Given the description of an element on the screen output the (x, y) to click on. 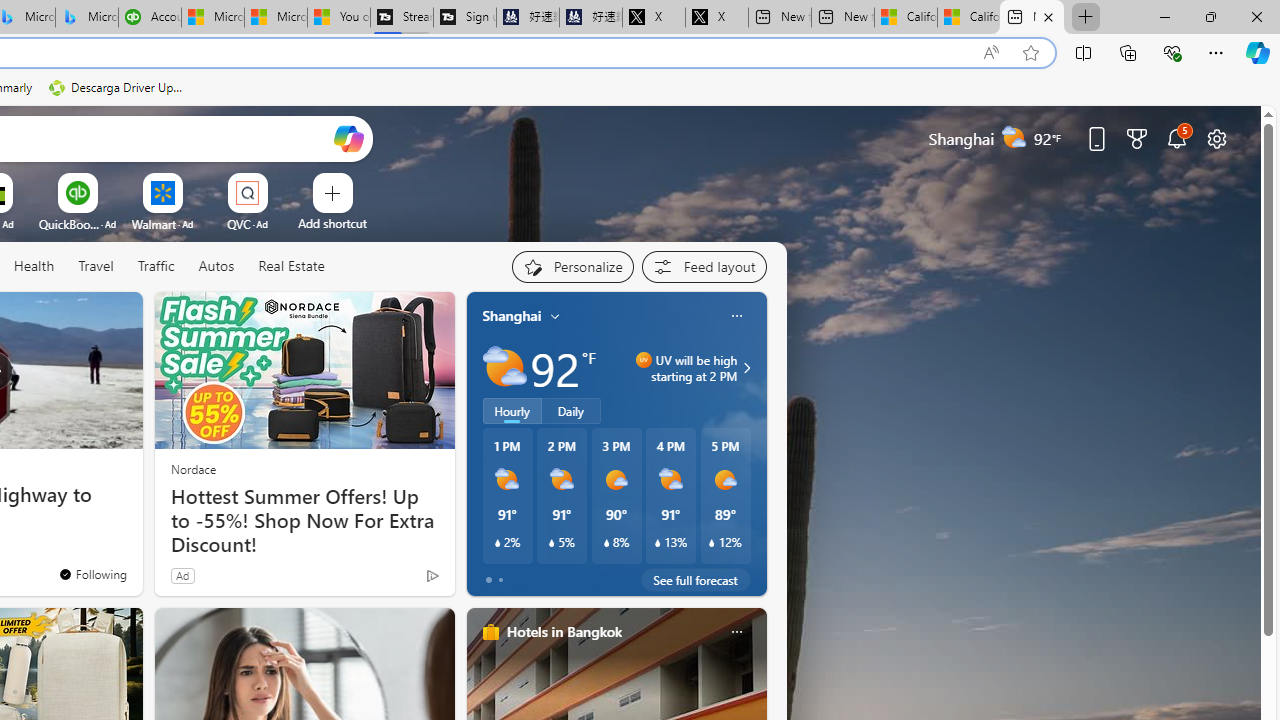
hotels-header-icon (490, 632)
Daily (571, 411)
Accounting Software for Accountants, CPAs and Bookkeepers (149, 17)
Add a site (332, 223)
